Given the description of an element on the screen output the (x, y) to click on. 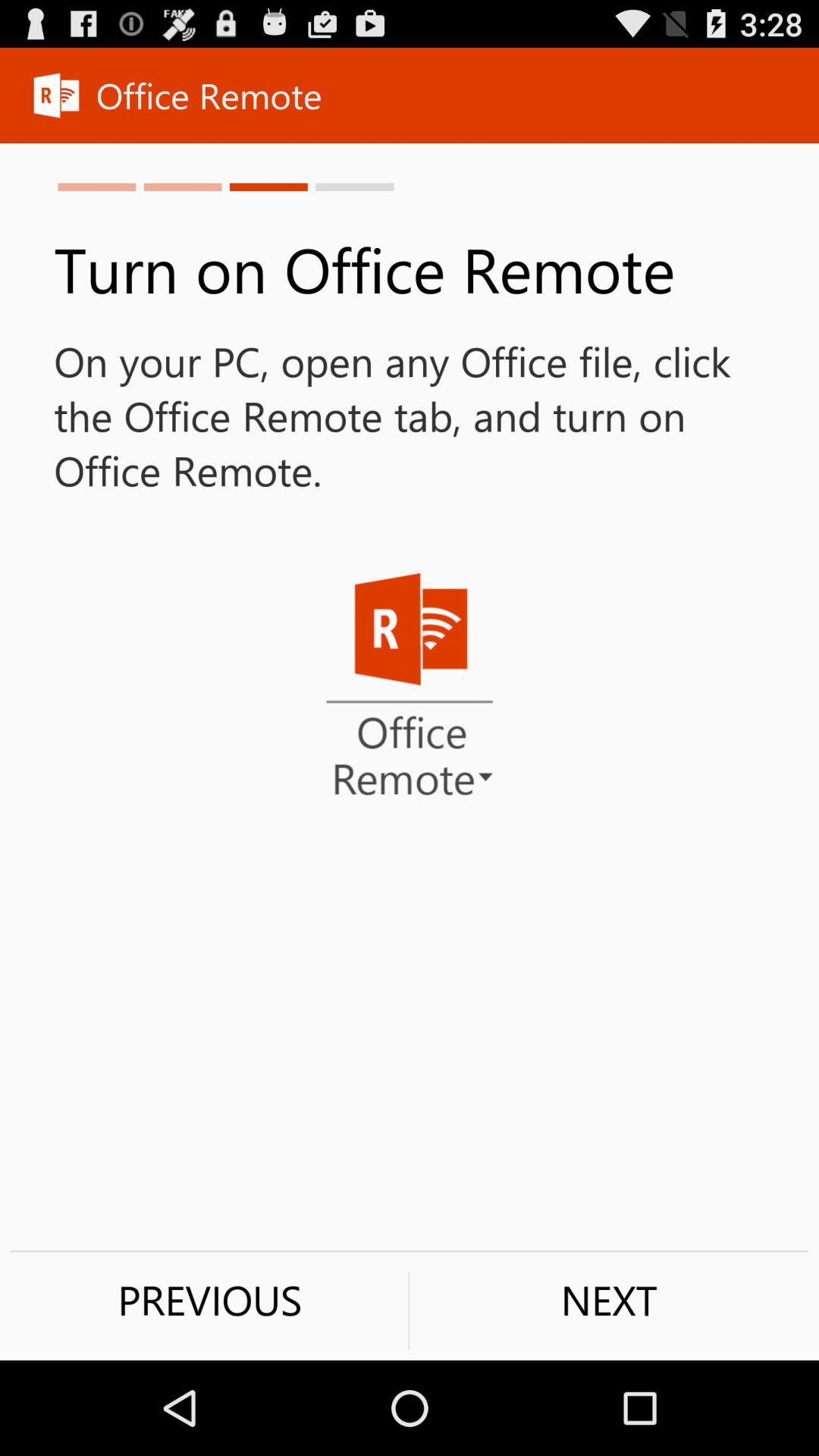
press next at the bottom right corner (608, 1300)
